Given the description of an element on the screen output the (x, y) to click on. 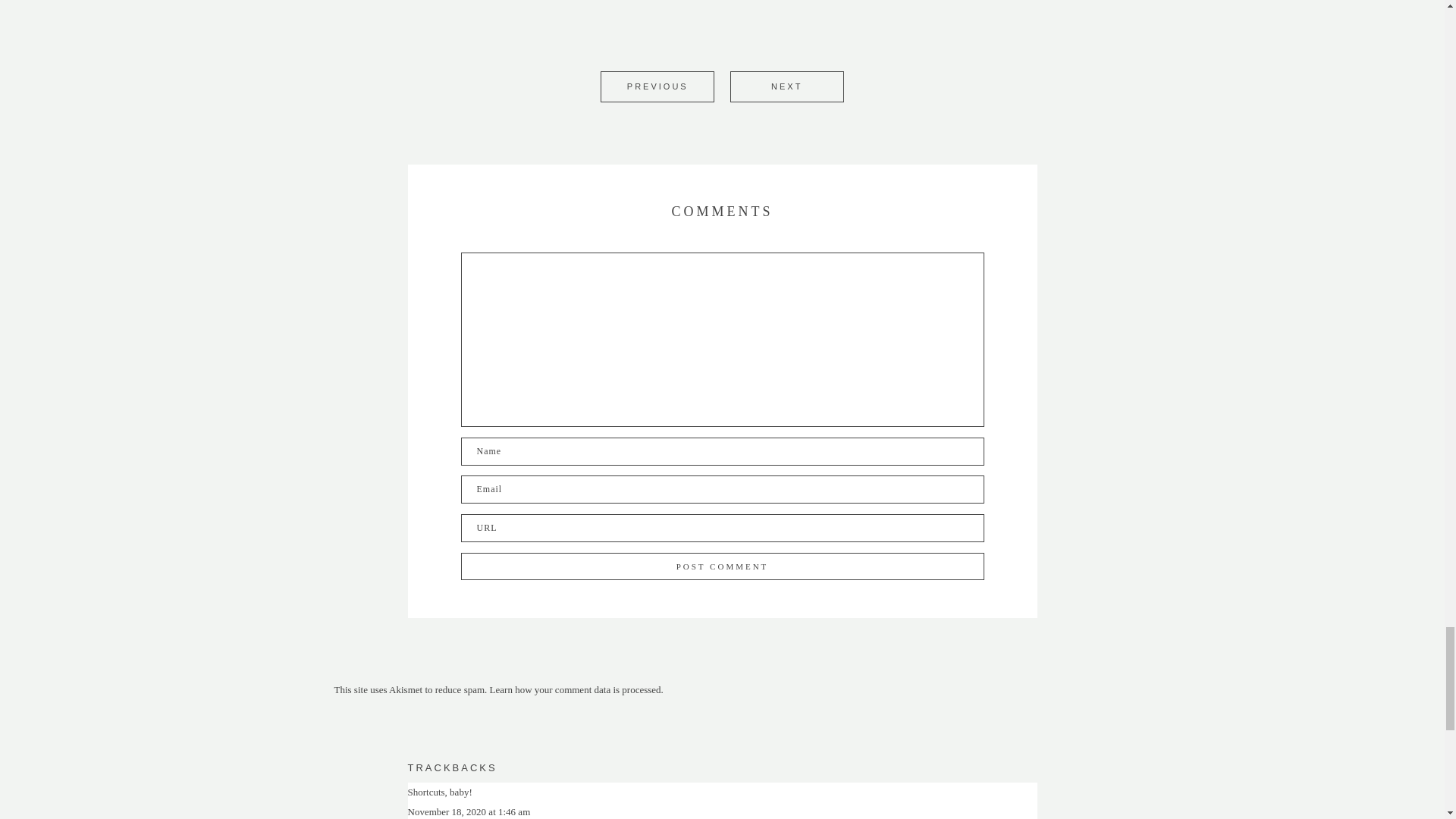
Post Comment (722, 565)
Shortcuts, baby! (439, 791)
NEXT (786, 86)
PREVIOUS (657, 86)
Learn how your comment data is processed (575, 689)
Post Comment (722, 565)
November 18, 2020 at 1:46 am (469, 811)
